Given the description of an element on the screen output the (x, y) to click on. 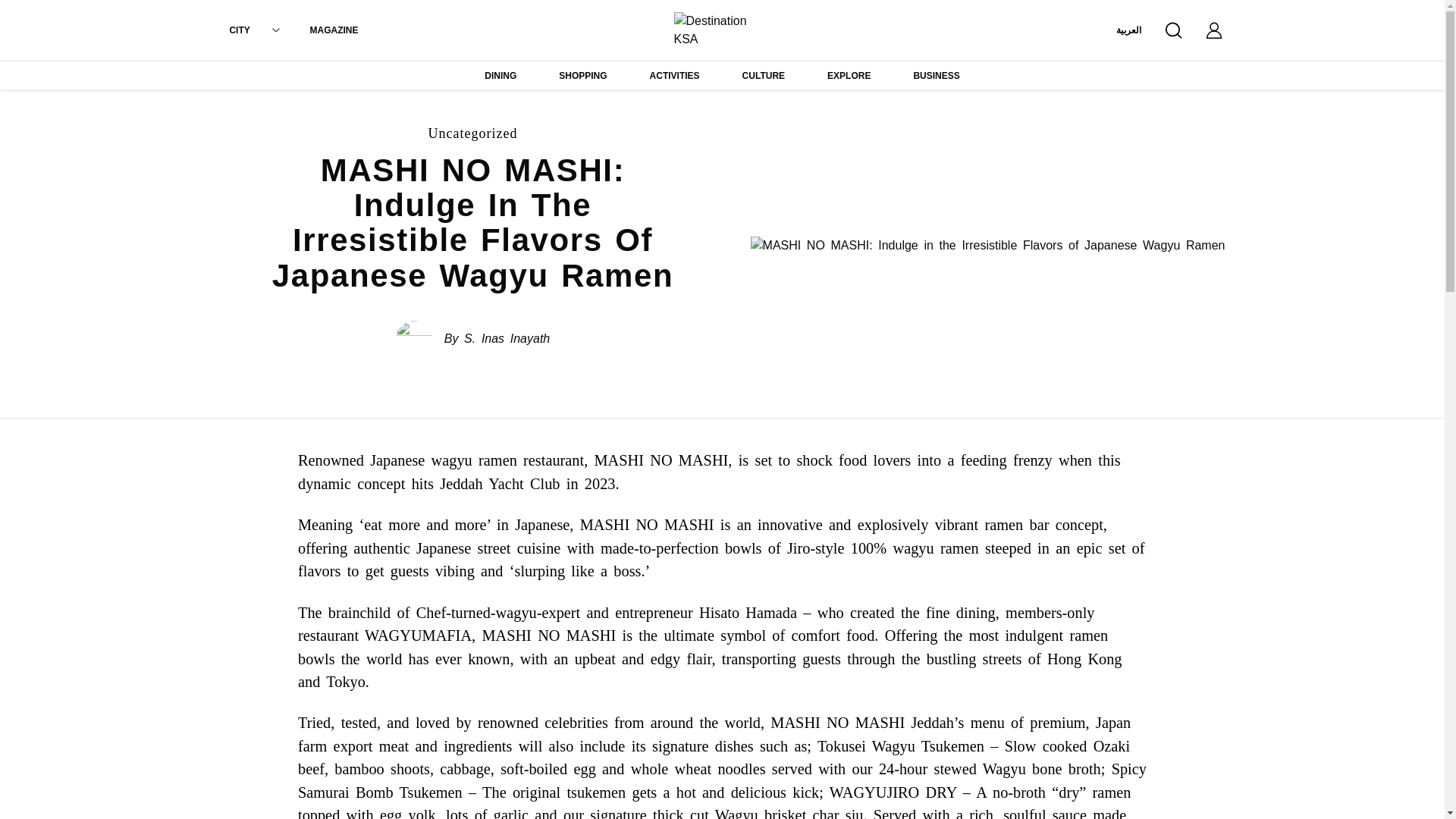
MAGAZINE (333, 29)
SHOPPING (583, 77)
EXPLORE (848, 77)
Uncategorized (473, 133)
By S. Inas Inayath (497, 339)
CULTURE (763, 77)
BUSINESS (935, 77)
DINING (500, 77)
ACTIVITIES (674, 77)
